Given the description of an element on the screen output the (x, y) to click on. 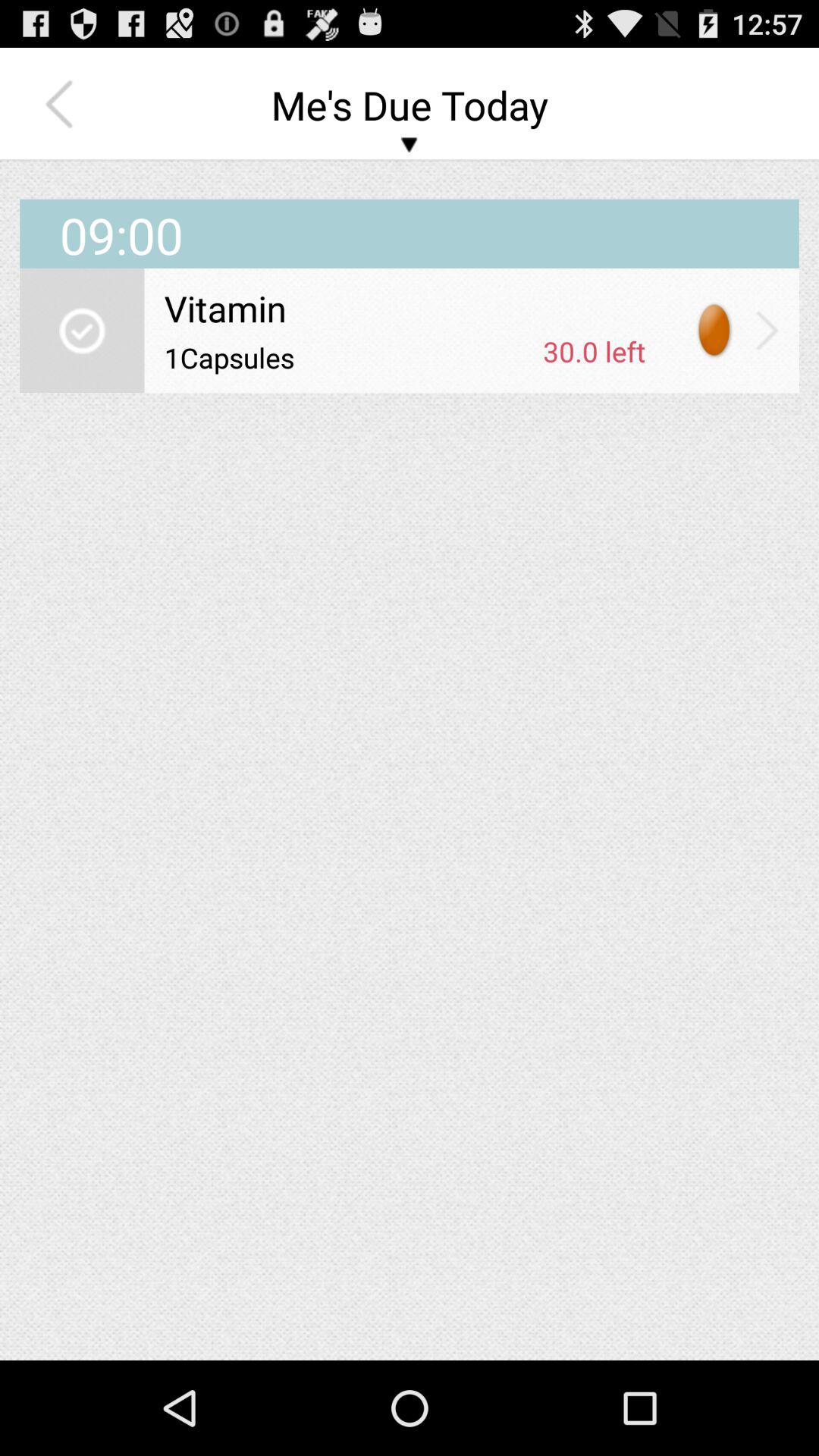
turn off the 30.0 left app (594, 351)
